Given the description of an element on the screen output the (x, y) to click on. 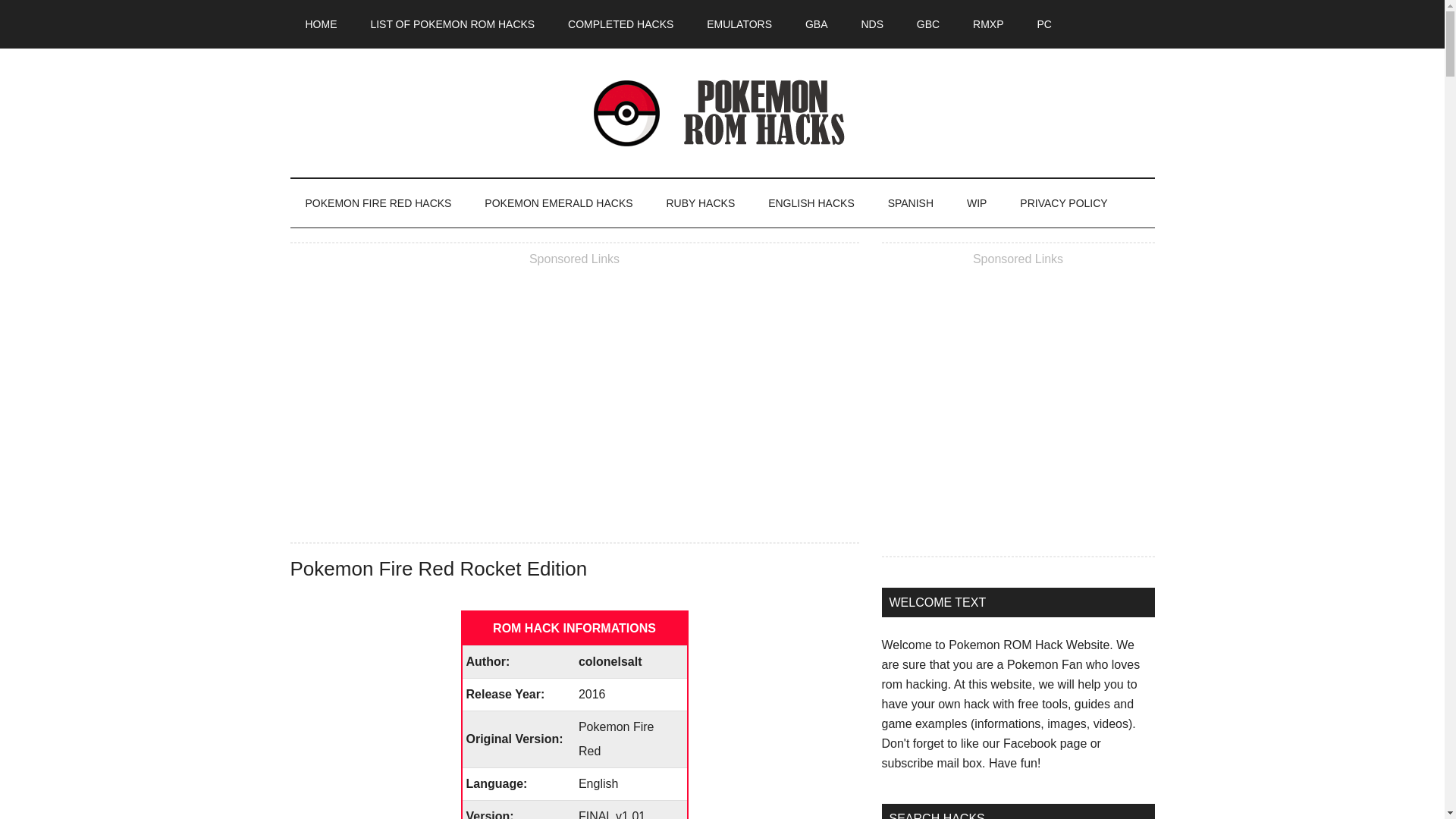
Pokemon ROM Hacks (721, 112)
GBC (928, 24)
POKEMON EMERALD HACKS (557, 203)
PRIVACY POLICY (1063, 203)
COMPLETED HACKS (620, 24)
ENGLISH HACKS (810, 203)
NDS (871, 24)
PC (1043, 24)
WIP (976, 203)
LIST OF POKEMON ROM HACKS (452, 24)
